Given the description of an element on the screen output the (x, y) to click on. 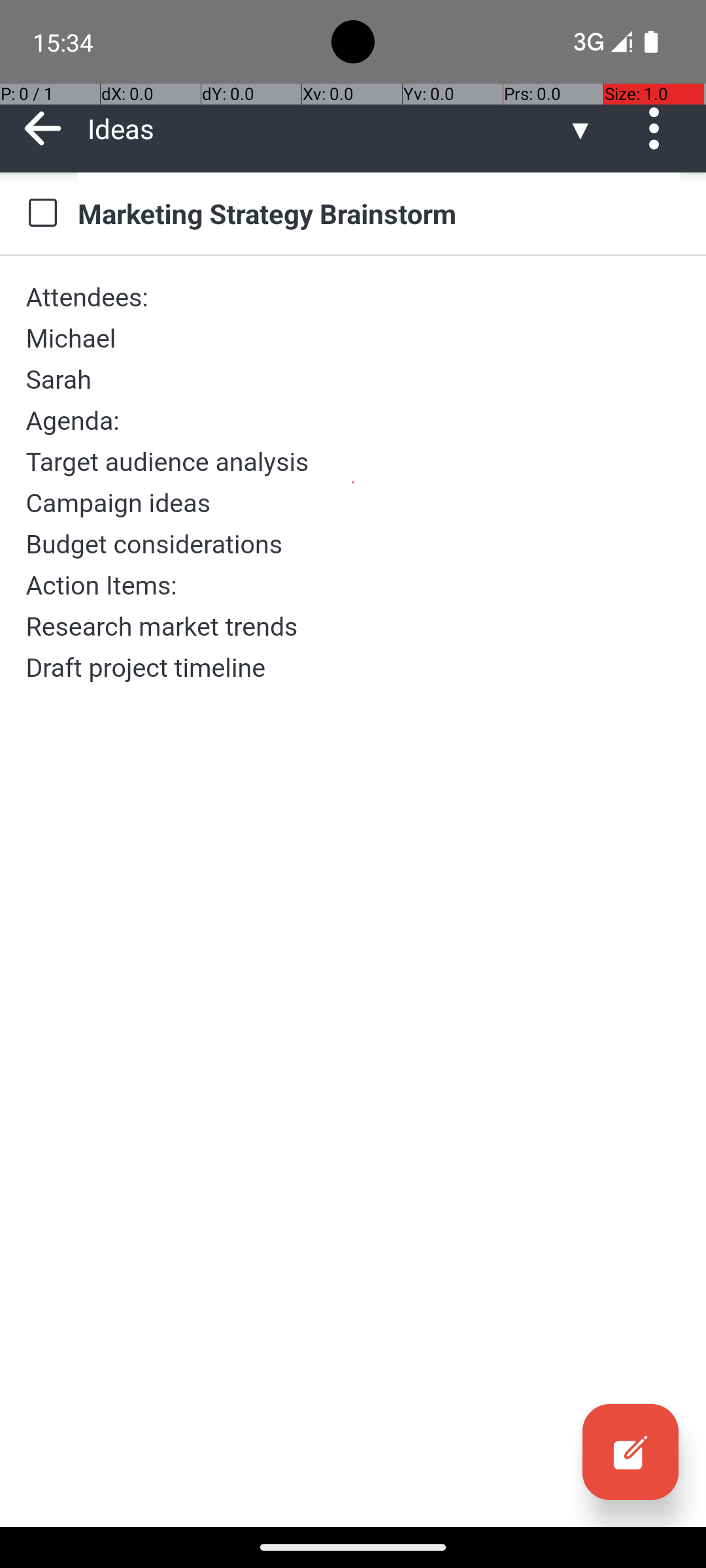
Attendees:
Michael
Sarah
Agenda:
Target audience analysis
Campaign ideas
Budget considerations
Action Items:
Research market trends
Draft project timeline Element type: android.widget.TextView (352, 481)
